Given the description of an element on the screen output the (x, y) to click on. 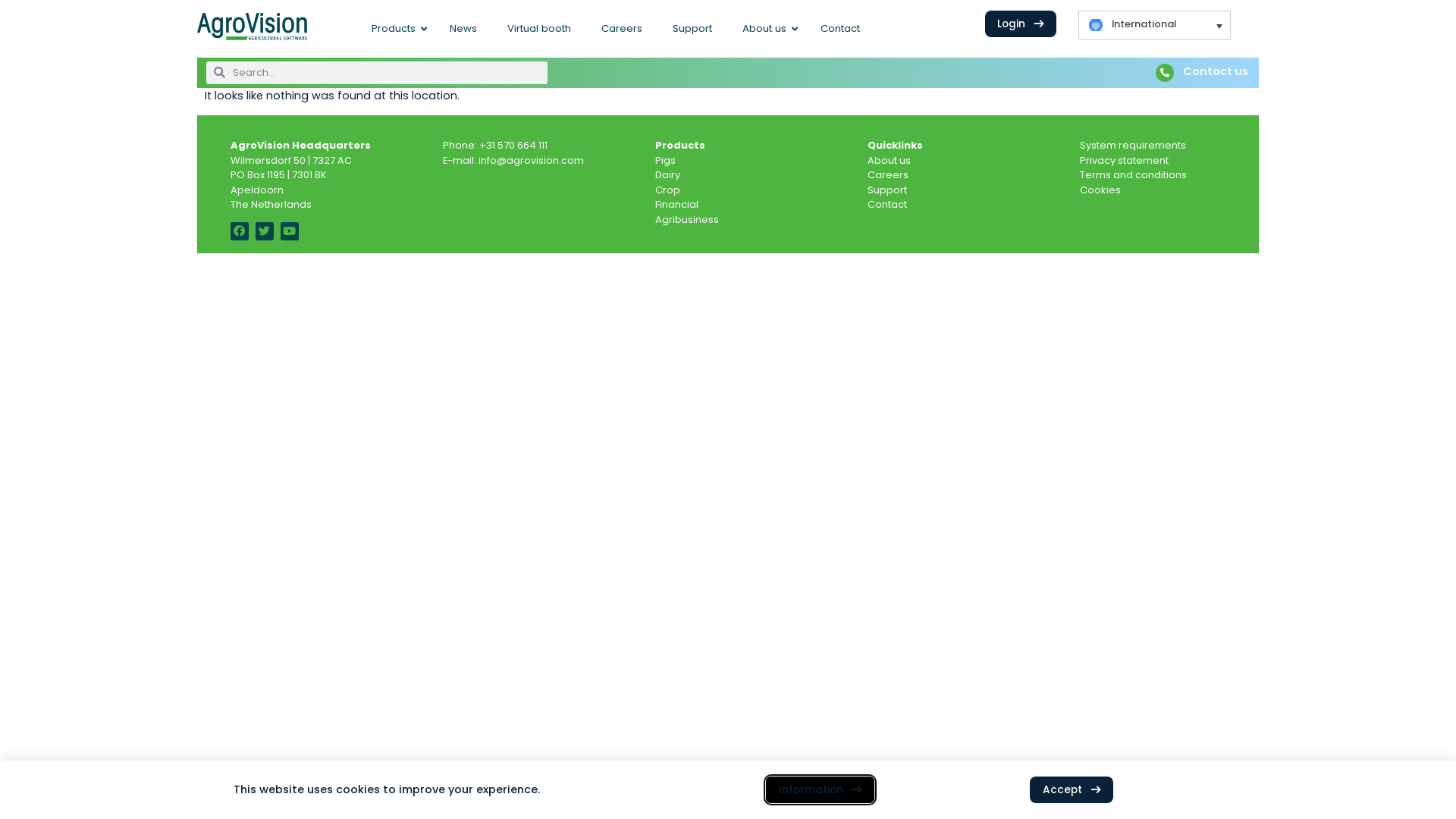
Pigs Element type: text (665, 160)
Terms and conditions Element type: text (1132, 174)
Information Element type: text (819, 789)
Agribusiness Element type: text (686, 219)
Contact Element type: text (840, 28)
Crop Element type: text (667, 189)
Careers Element type: text (887, 174)
Login Element type: text (1021, 23)
Financial Element type: text (676, 204)
Accept Element type: text (1071, 789)
Careers Element type: text (621, 28)
Virtual booth Element type: text (539, 28)
News Element type: text (463, 28)
Cookies Element type: text (1099, 189)
Products Element type: text (395, 28)
Support Element type: text (886, 189)
Support Element type: text (692, 28)
Contact Element type: text (886, 204)
About us Element type: text (766, 28)
Privacy statement Element type: text (1123, 160)
About us Element type: text (888, 160)
Dairy Element type: text (667, 174)
System requirements Element type: text (1132, 145)
Contact us Element type: text (1215, 70)
International Element type: text (1154, 25)
